Given the description of an element on the screen output the (x, y) to click on. 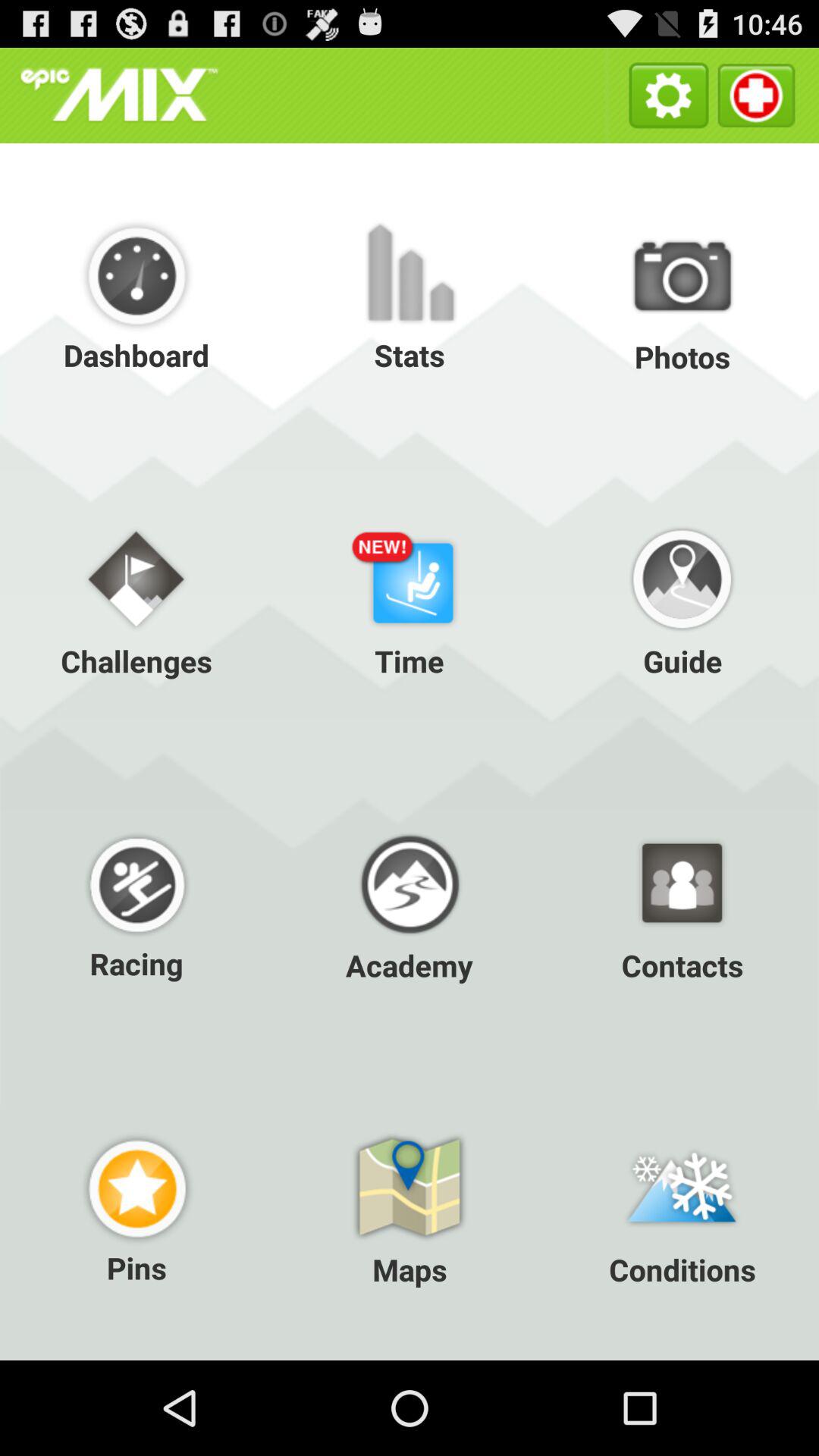
launch the item at the top (409, 295)
